Given the description of an element on the screen output the (x, y) to click on. 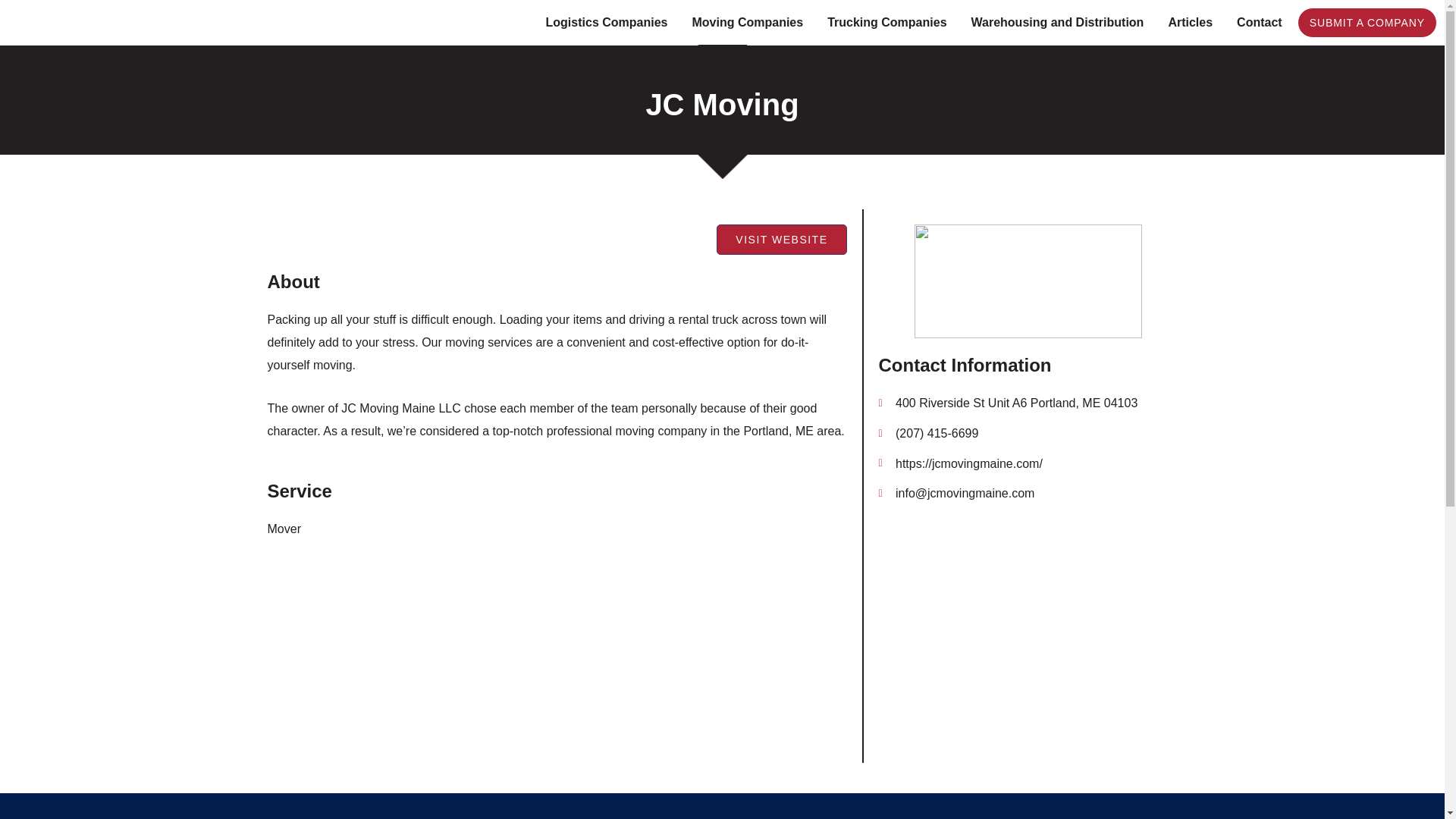
Moving Companies (747, 22)
Warehousing and Distribution (1057, 22)
Logistics Companies (607, 22)
Contact (1259, 22)
VISIT WEBSITE (780, 239)
400 Riverside St Unit A6 Portland, ME 04103 (1026, 633)
SUBMIT A COMPANY (1367, 22)
Articles (1189, 22)
Trucking Companies (886, 22)
